Given the description of an element on the screen output the (x, y) to click on. 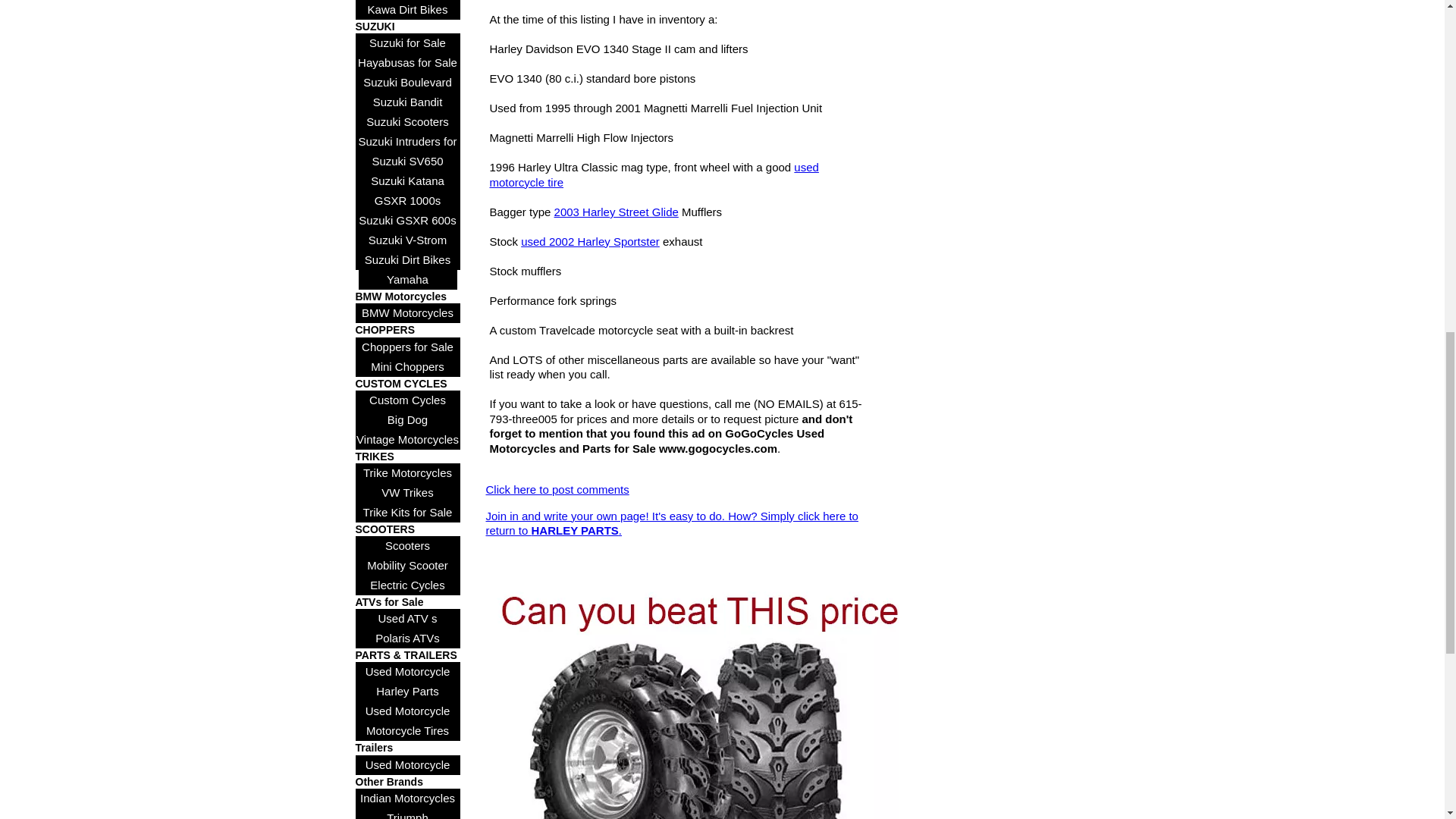
2003 Harley Street Glide (616, 211)
Click here to post comments (556, 489)
used 2002 Harley Sportster (590, 241)
used motorcycle tire (653, 174)
